Given the description of an element on the screen output the (x, y) to click on. 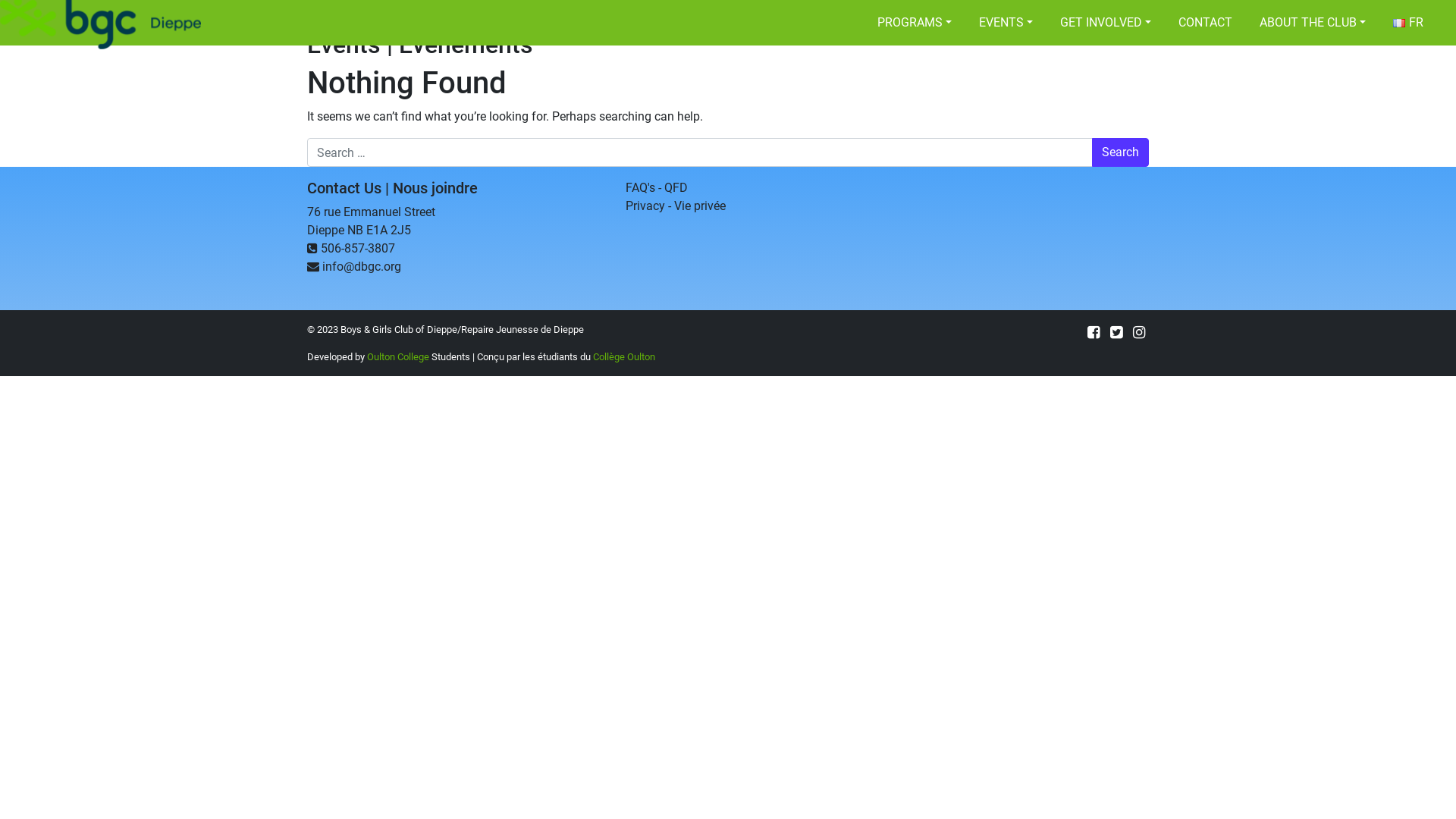
Facebook Element type: hover (1093, 332)
Twitter Element type: hover (1116, 332)
Oulton College Element type: text (398, 356)
FR Element type: hover (1399, 22)
Privacy Element type: text (645, 205)
ABOUT THE CLUB Element type: text (1312, 22)
PROGRAMS Element type: text (914, 22)
Instagram Element type: hover (1138, 332)
FAQ's Element type: text (640, 187)
Search Element type: text (1120, 152)
EVENTS Element type: text (1005, 22)
GET INVOLVED Element type: text (1105, 22)
info@dbgc.org Element type: text (361, 266)
QFD Element type: text (675, 187)
FR Element type: text (1407, 22)
CONTACT Element type: text (1205, 22)
